Given the description of an element on the screen output the (x, y) to click on. 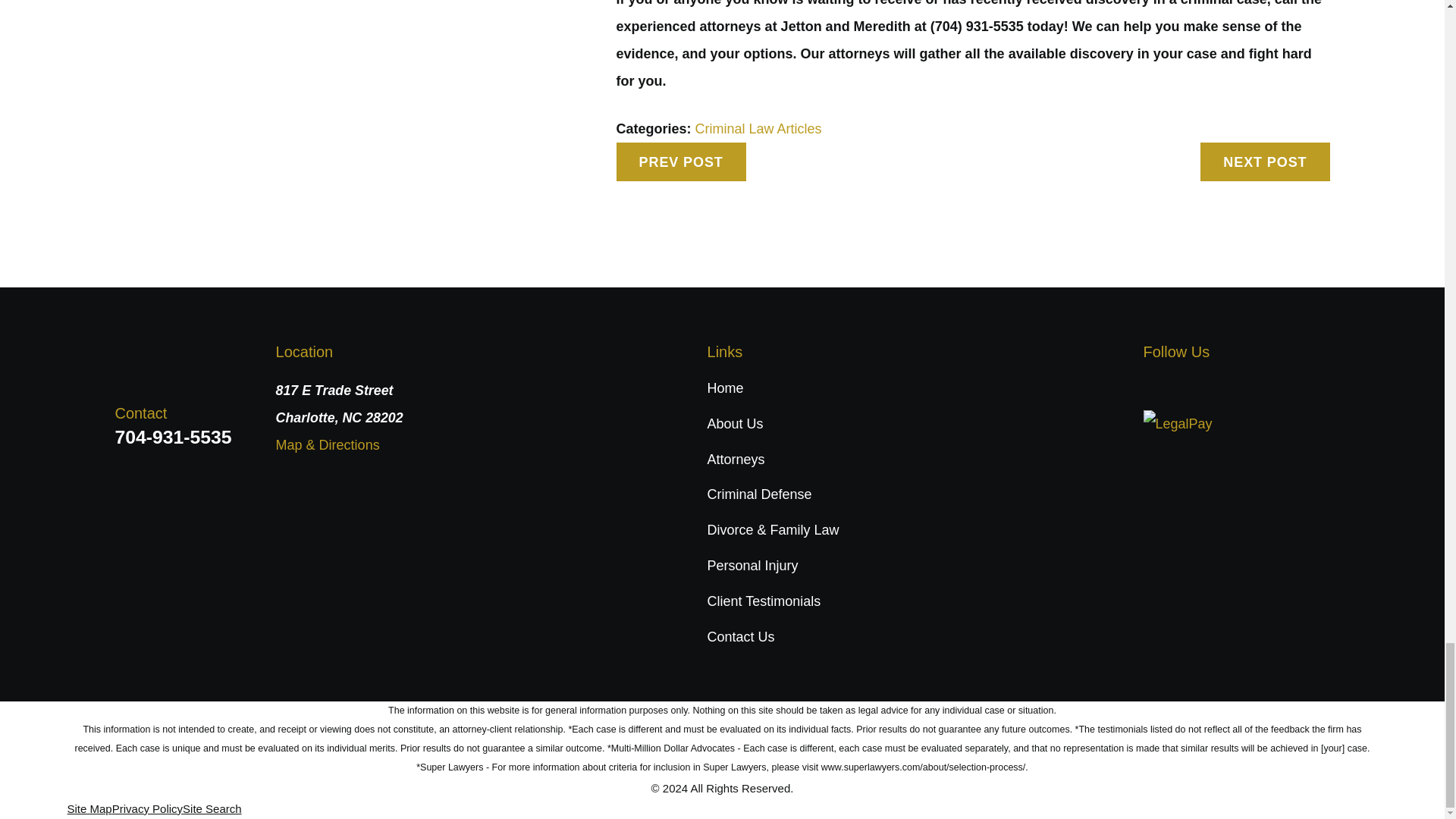
LinkedIn (1194, 386)
Home (195, 354)
Instagram (1236, 386)
Facebook (1151, 386)
